Given the description of an element on the screen output the (x, y) to click on. 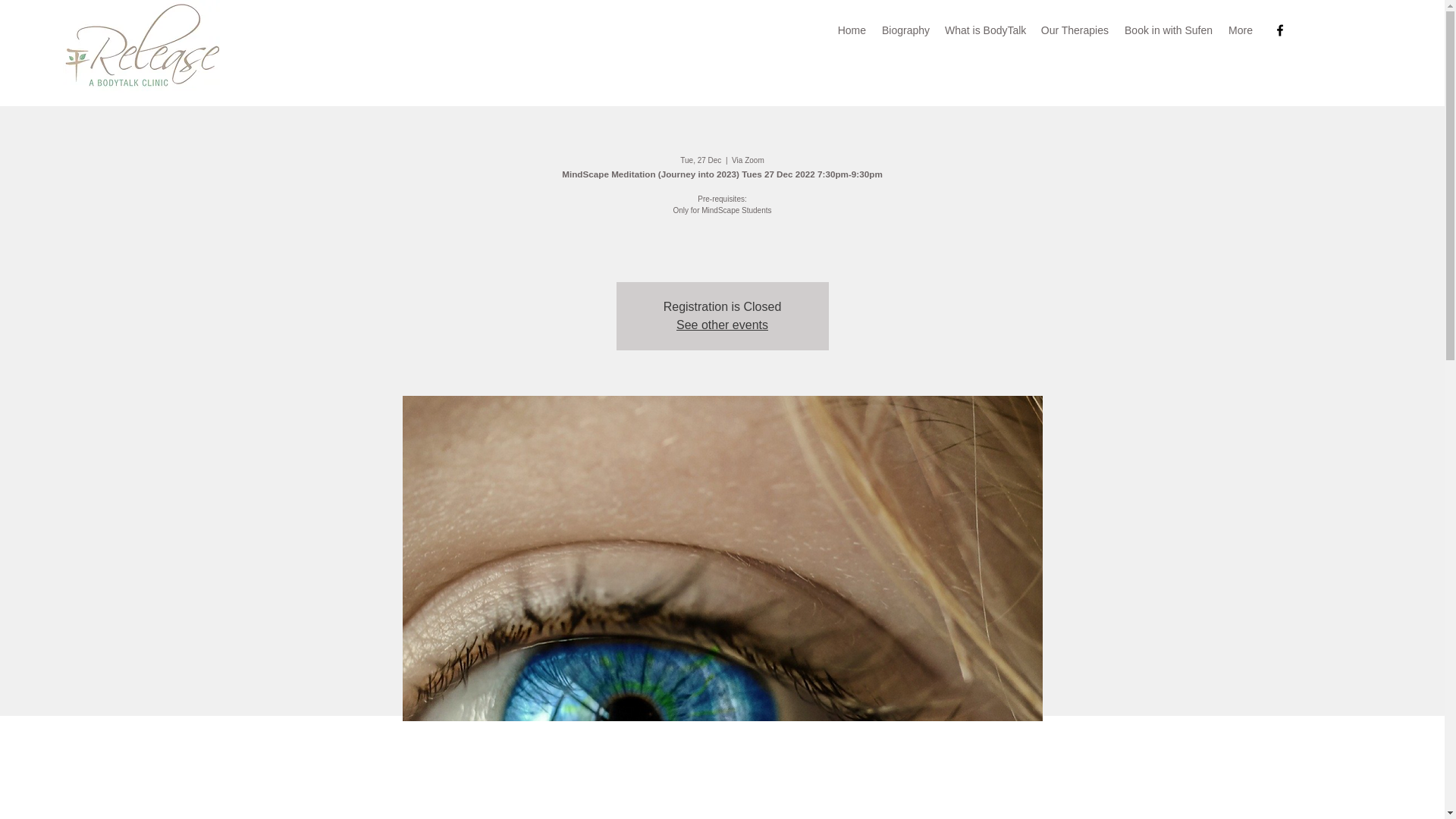
Biography (905, 29)
See other events (722, 324)
Book in with Sufen (1168, 29)
Our Therapies (1074, 29)
What is BodyTalk (984, 29)
Home (851, 29)
